Given the description of an element on the screen output the (x, y) to click on. 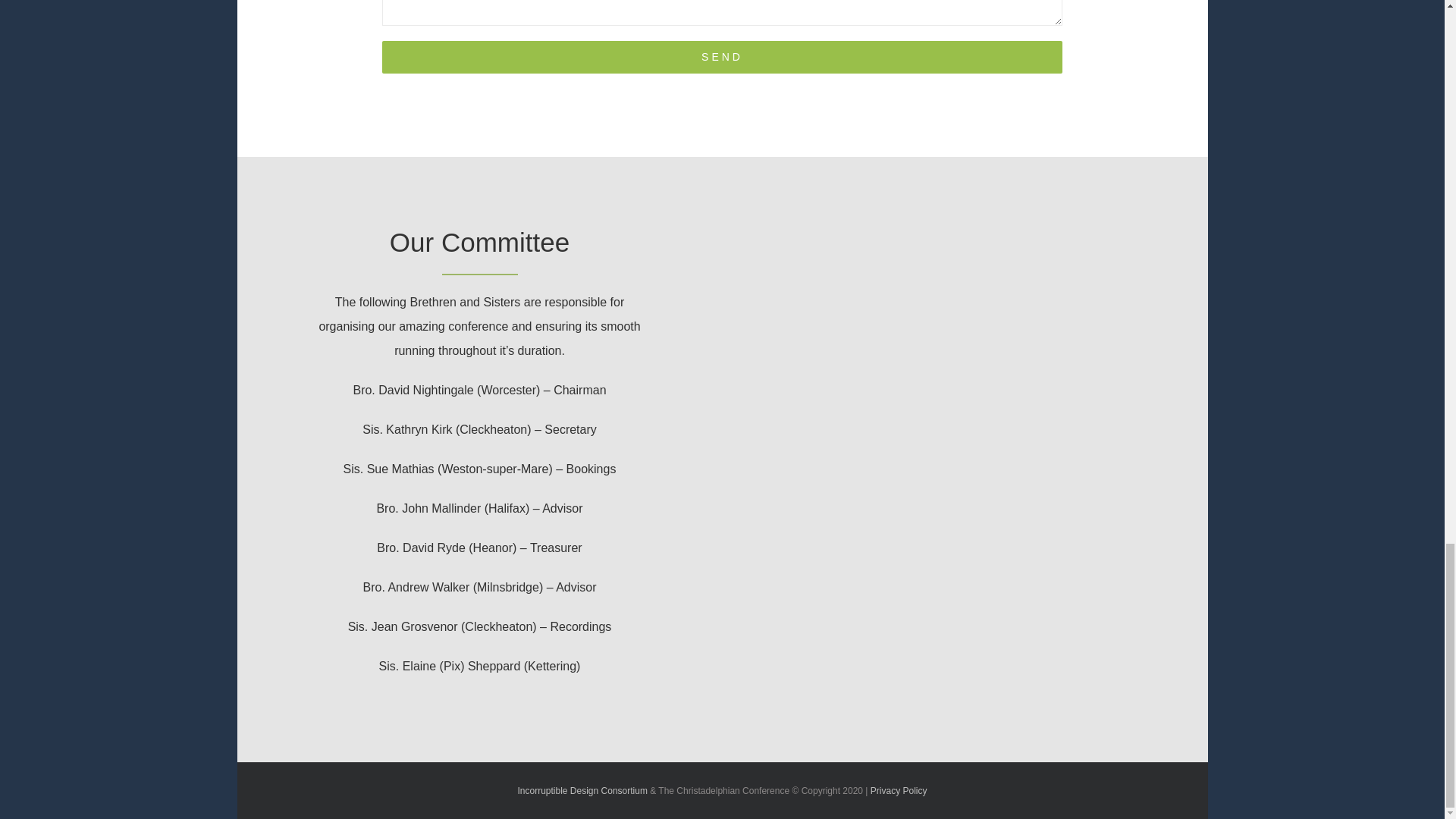
Send (721, 56)
Incorruptible Design Consortium (581, 790)
Privacy Policy (898, 790)
Send (721, 56)
